Given the description of an element on the screen output the (x, y) to click on. 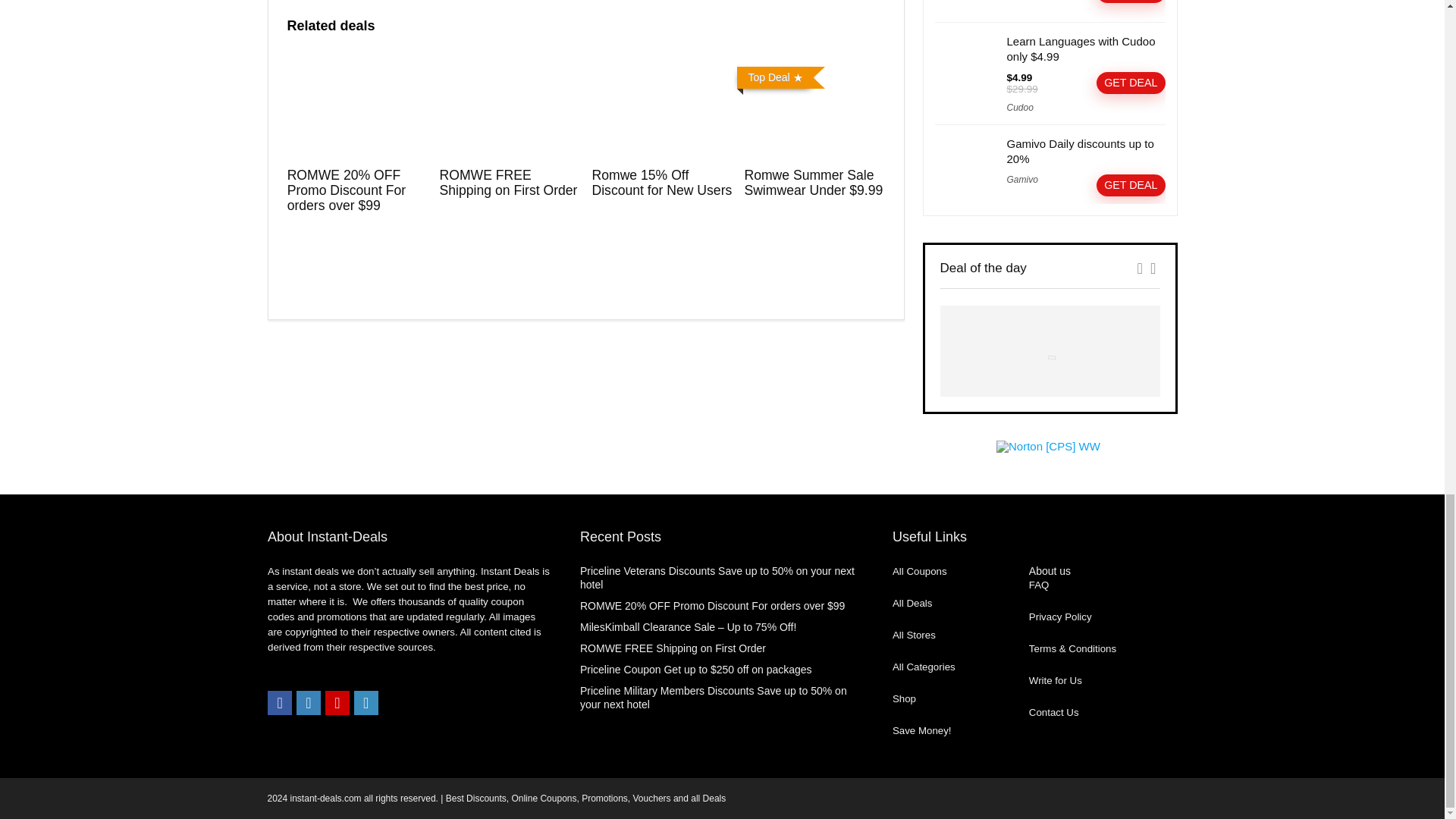
Facebook (279, 702)
Instagramm (308, 702)
Youtube (336, 702)
Linkedin (365, 702)
